Given the description of an element on the screen output the (x, y) to click on. 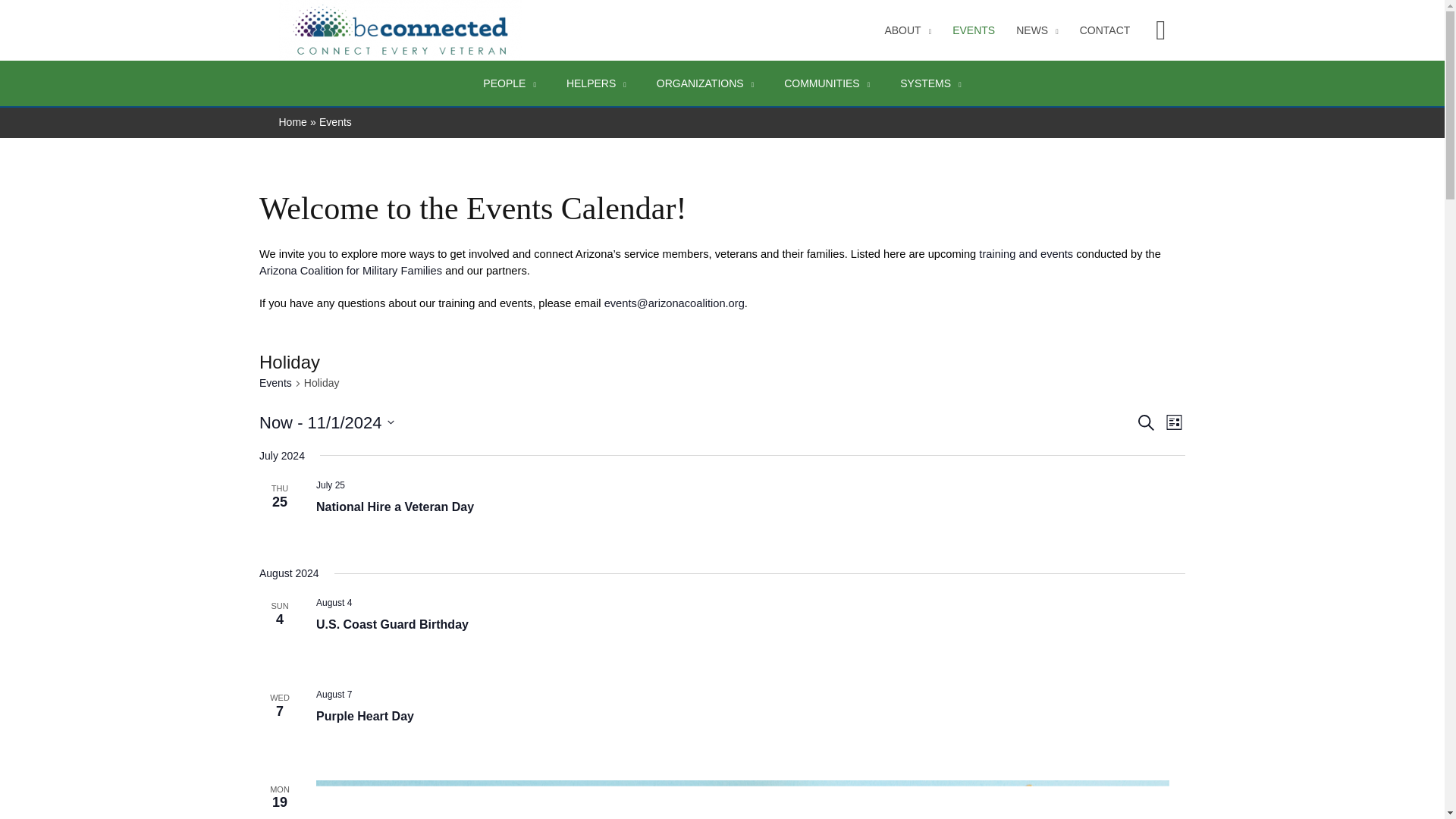
HELPERS (596, 83)
EVENTS (974, 30)
Search (1161, 29)
National Hire a Veteran Day (394, 507)
Click to toggle datepicker (326, 422)
Purple Heart Day (364, 716)
PEOPLE (509, 83)
COMMUNITIES (826, 83)
U.S. Coast Guard Birthday (391, 624)
NEWS (1037, 30)
ABOUT (907, 30)
ACMF 15 Birthday (742, 799)
CONTACT (1104, 30)
ORGANIZATIONS (705, 83)
